Given the description of an element on the screen output the (x, y) to click on. 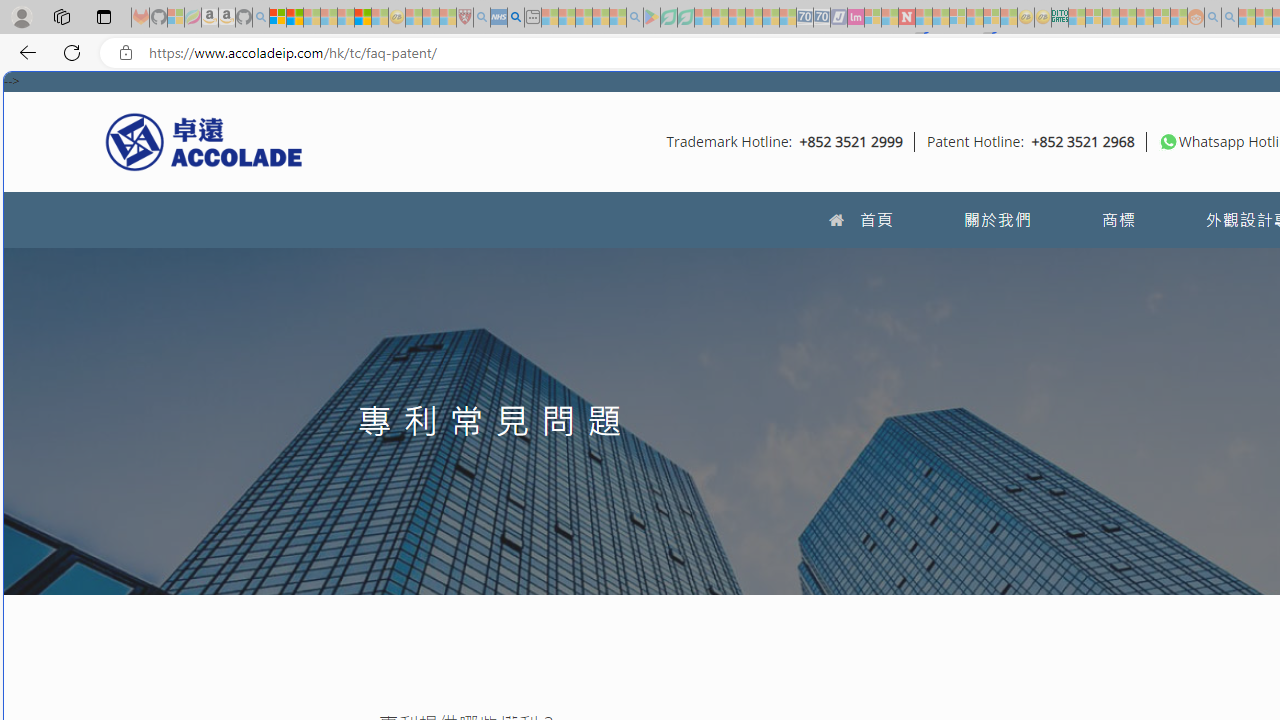
Cheap Hotels - Save70.com - Sleeping (821, 17)
New Report Confirms 2023 Was Record Hot | Watch - Sleeping (345, 17)
MSNBC - MSN - Sleeping (1076, 17)
Expert Portfolios - Sleeping (1128, 17)
Local - MSN - Sleeping (447, 17)
Latest Politics News & Archive | Newsweek.com - Sleeping (906, 17)
NCL Adult Asthma Inhaler Choice Guideline - Sleeping (498, 17)
Trusted Community Engagement and Contributions | Guidelines (923, 17)
google - Search - Sleeping (634, 17)
